Given the description of an element on the screen output the (x, y) to click on. 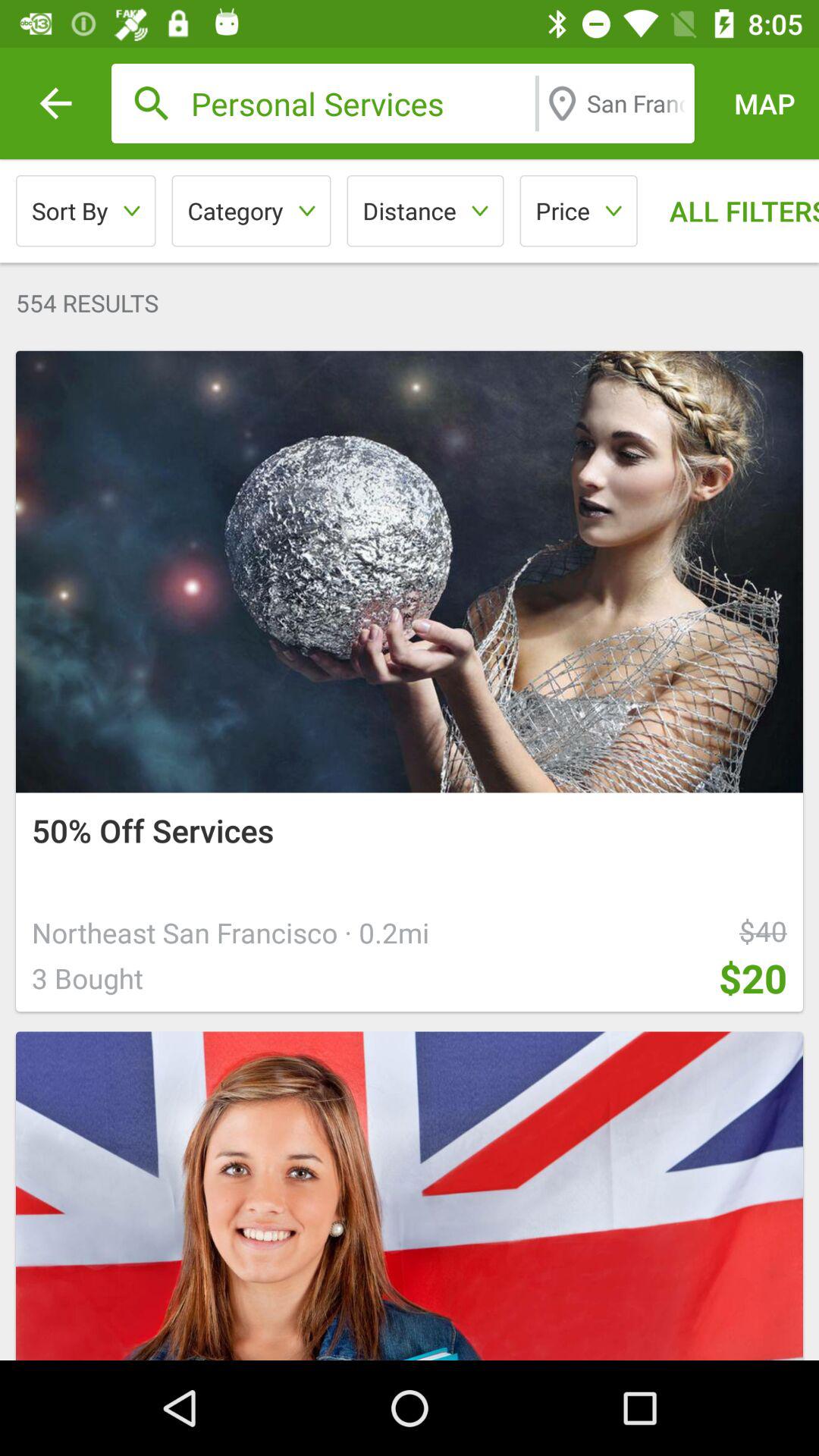
launch category icon (251, 210)
